Given the description of an element on the screen output the (x, y) to click on. 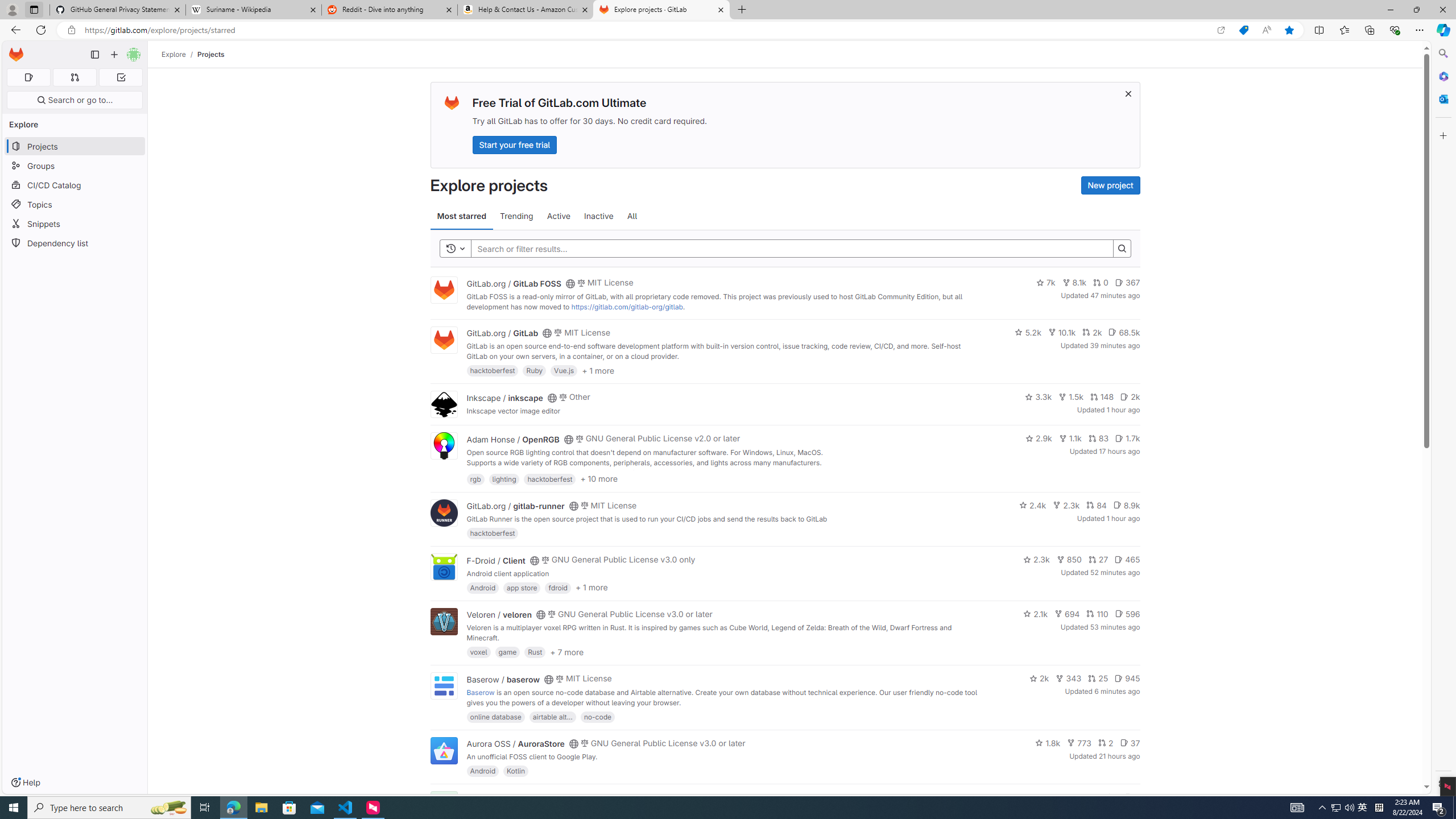
GitLab.org / GitLab FOSS (513, 283)
game (507, 651)
Class: project (443, 750)
2.3k (1035, 559)
Snippets (74, 223)
Topics (74, 203)
37 (1129, 742)
Merge requests 0 (74, 76)
68.5k (1124, 331)
0 (1100, 282)
83 (1098, 438)
596 (1127, 613)
Help & Contact Us - Amazon Customer Service (525, 9)
